Given the description of an element on the screen output the (x, y) to click on. 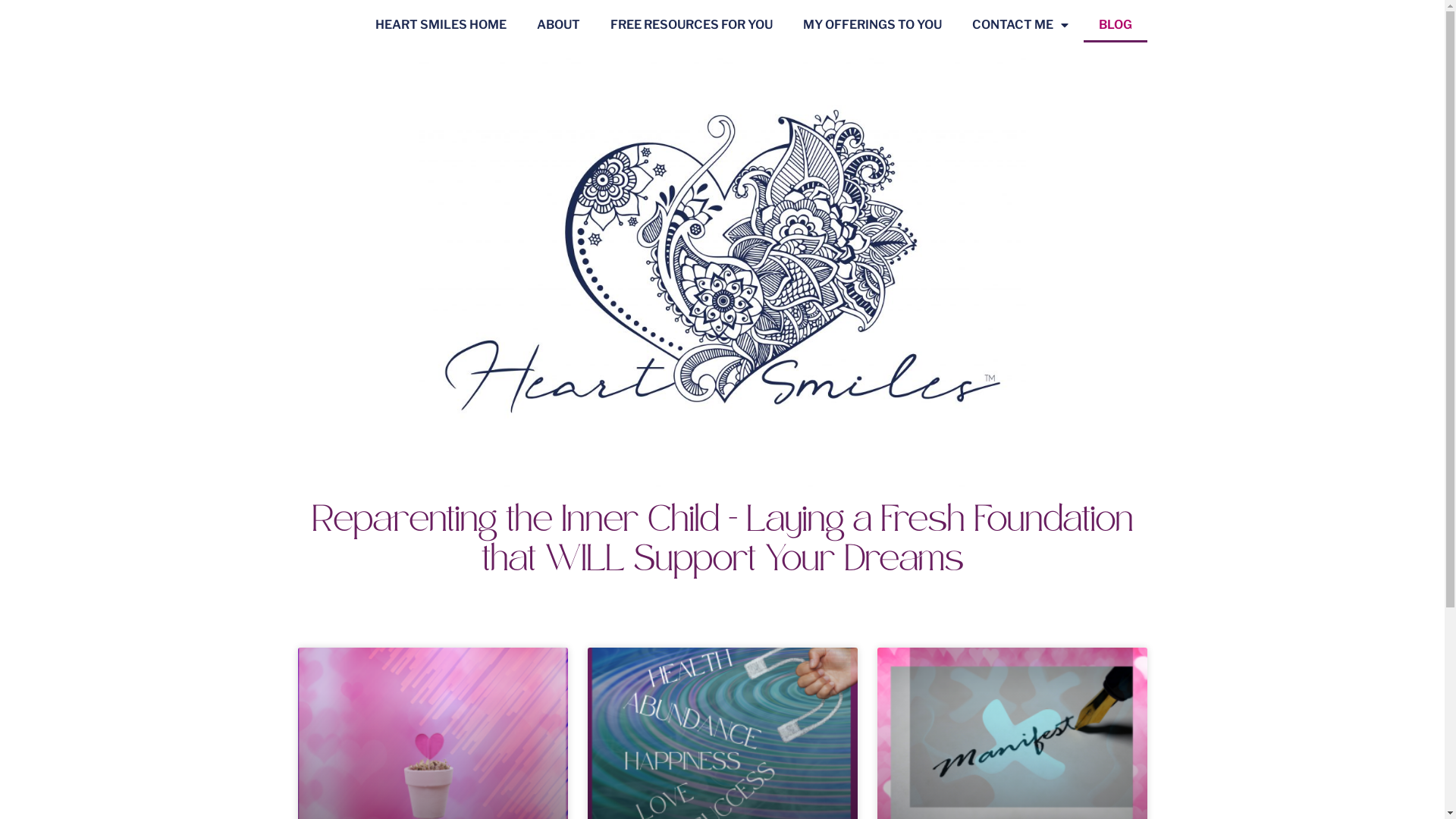
ABOUT Element type: text (558, 24)
MY OFFERINGS TO YOU Element type: text (871, 24)
BLOG Element type: text (1114, 24)
FREE RESOURCES FOR YOU Element type: text (690, 24)
CONTACT ME Element type: text (1020, 24)
HEART SMILES HOME Element type: text (439, 24)
